Given the description of an element on the screen output the (x, y) to click on. 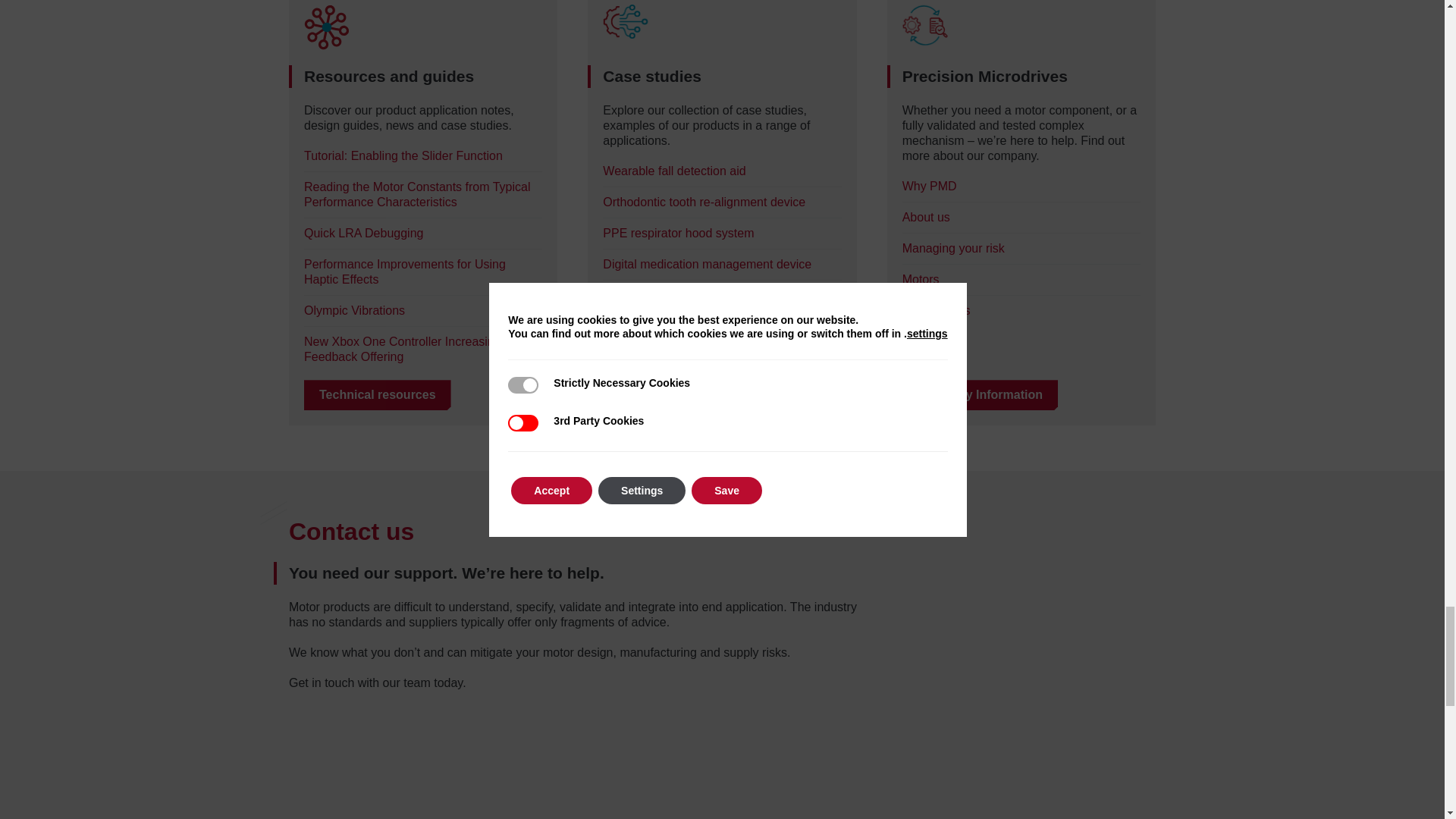
Form 0 (577, 762)
